Given the description of an element on the screen output the (x, y) to click on. 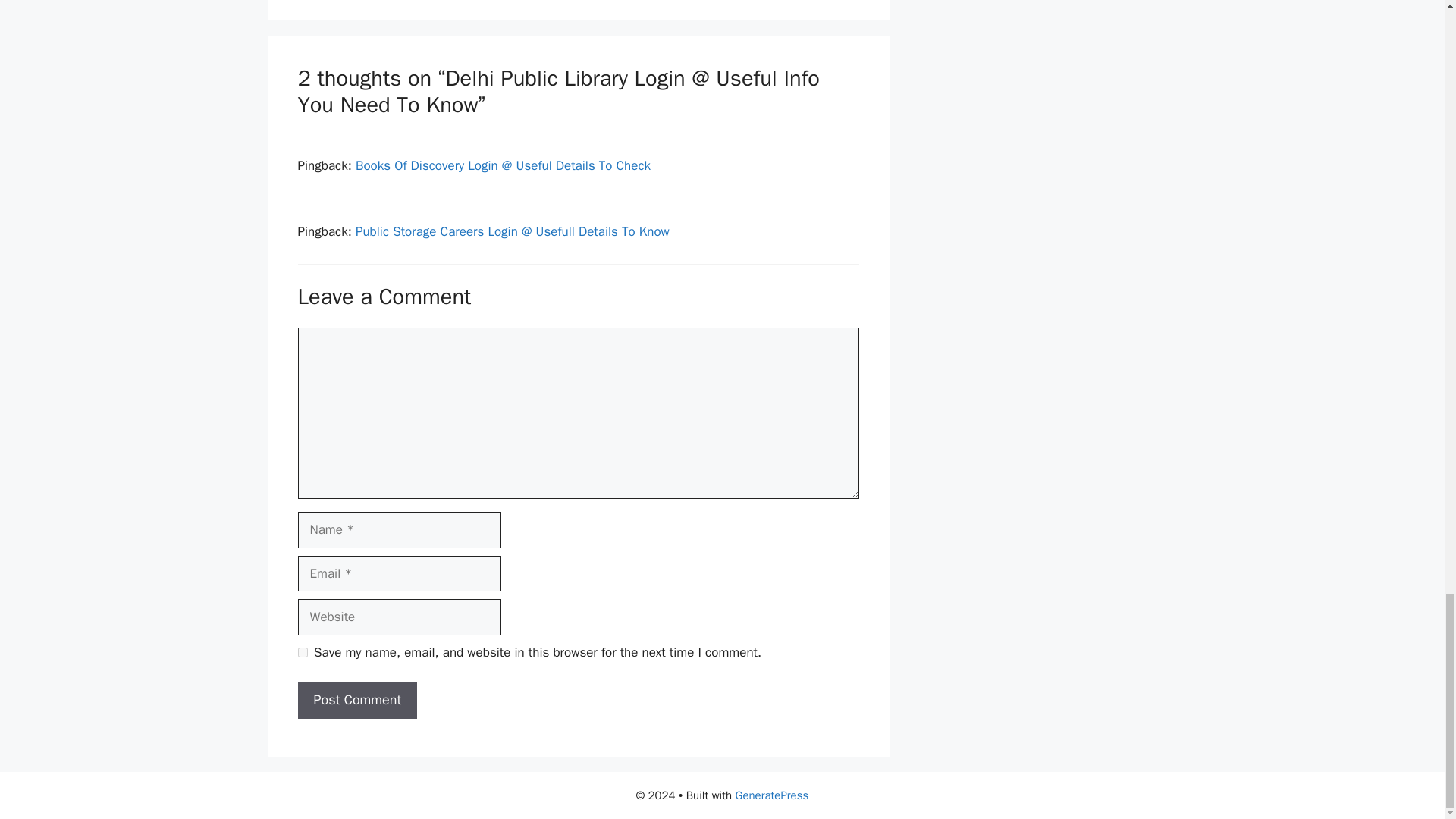
Post Comment (356, 700)
yes (302, 652)
Post Comment (356, 700)
